Given the description of an element on the screen output the (x, y) to click on. 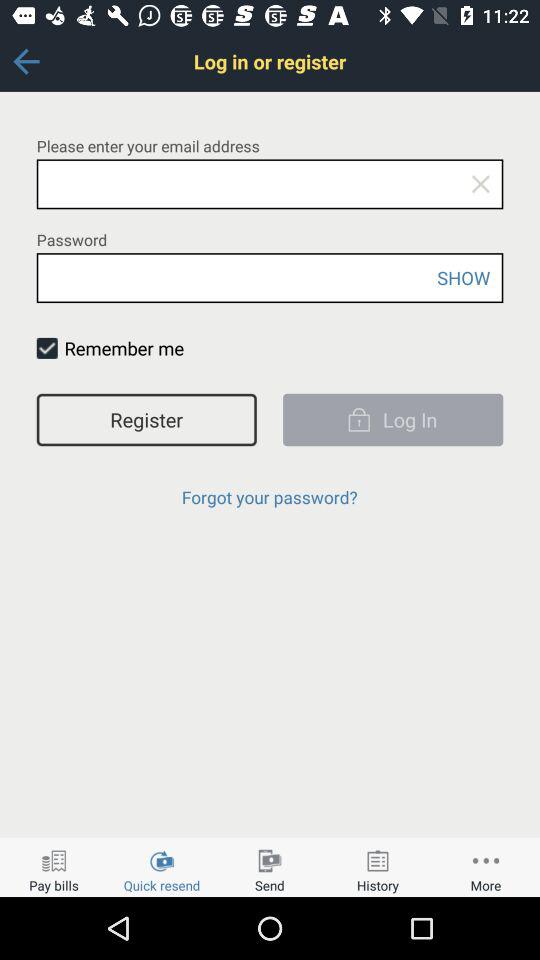
tap item below the please enter your (480, 184)
